Given the description of an element on the screen output the (x, y) to click on. 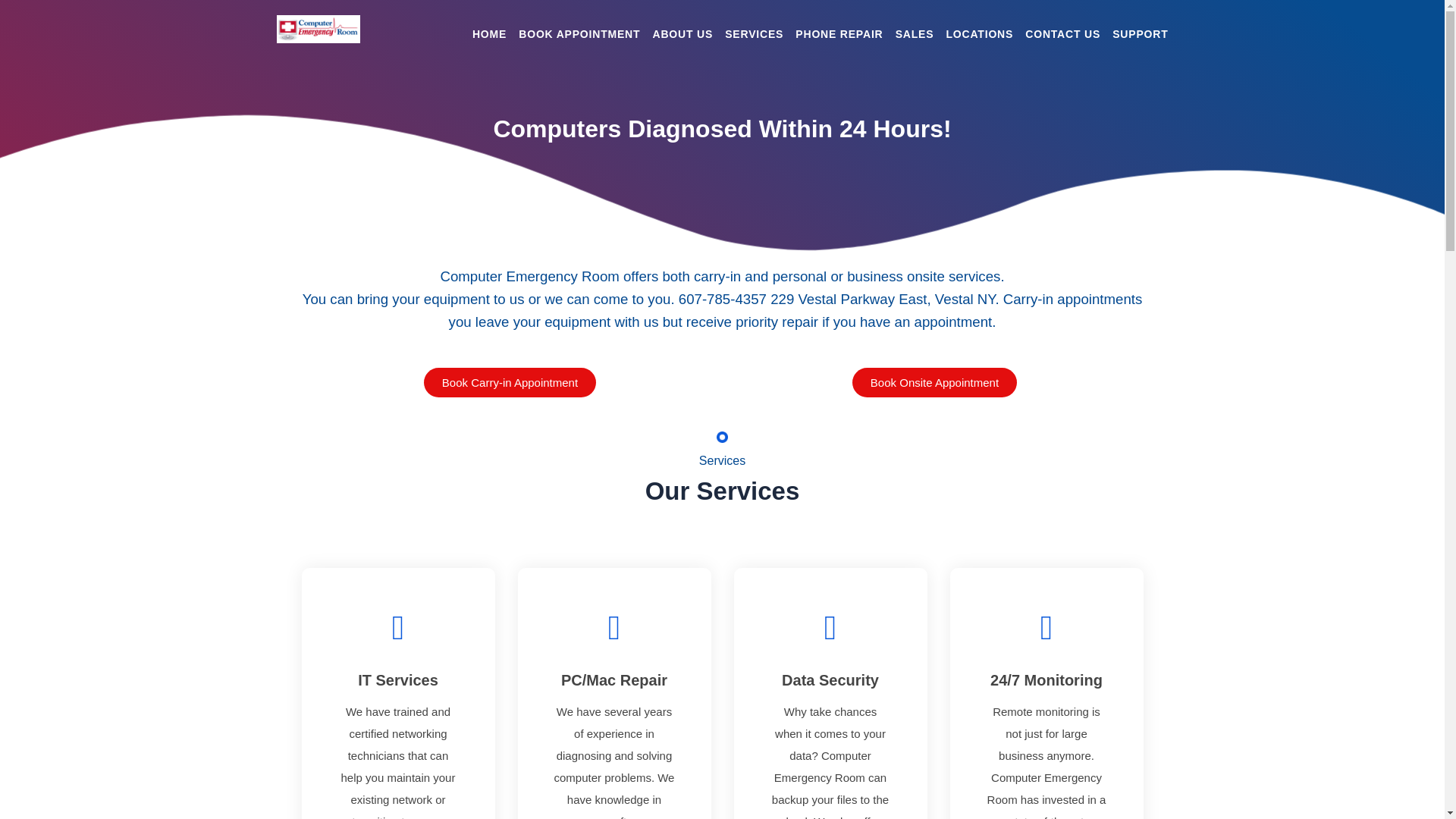
ABOUT US (682, 33)
CONTACT US (1062, 33)
SALES (914, 33)
SERVICES (754, 33)
Book Carry-in Appointment (509, 382)
SUPPORT (1139, 33)
BOOK APPOINTMENT (579, 33)
Book Onsite Appointment (933, 382)
LOCATIONS (979, 33)
PHONE REPAIR (838, 33)
